Given the description of an element on the screen output the (x, y) to click on. 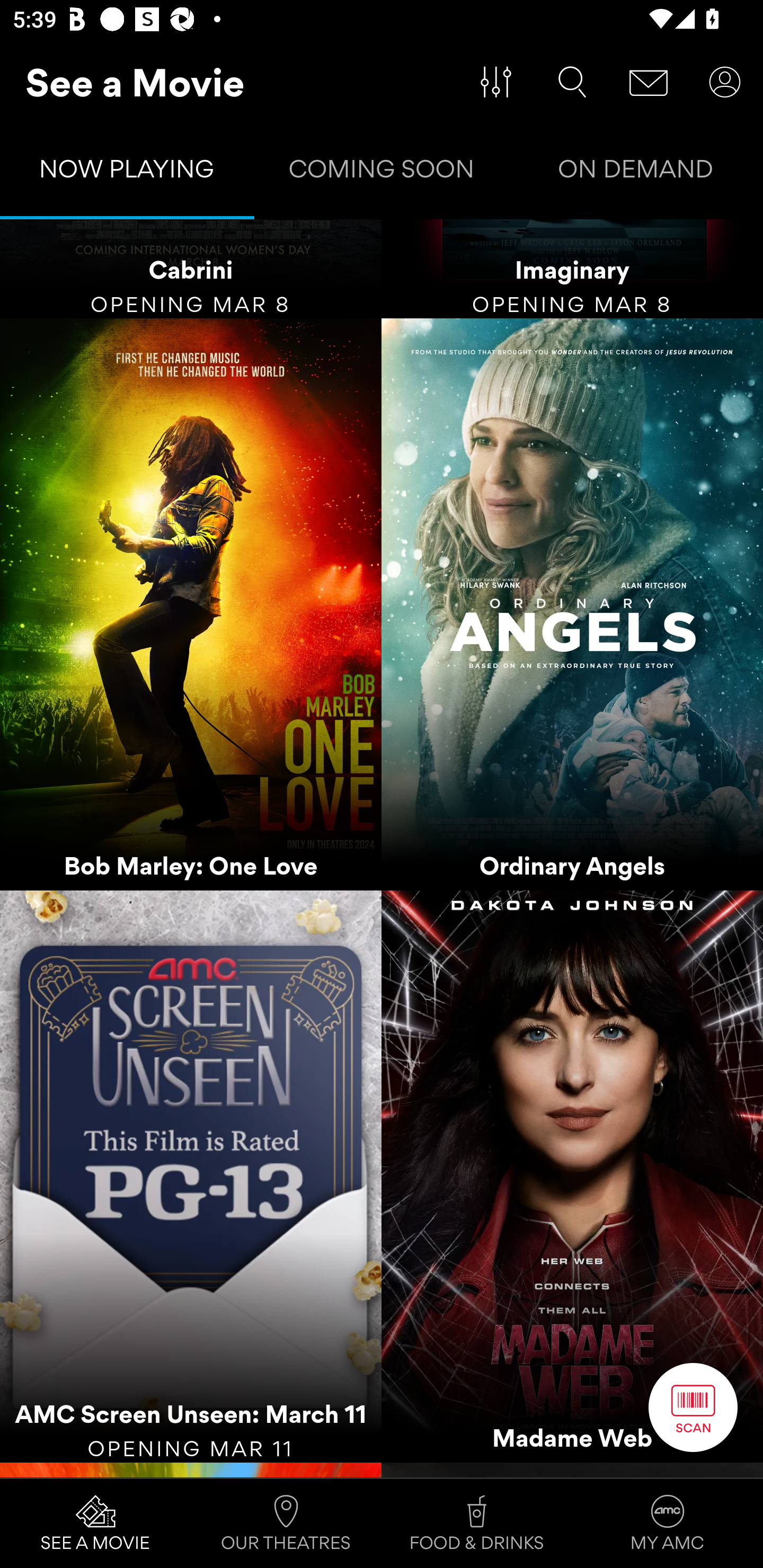
Filter Movies (495, 82)
Search (572, 82)
Message Center (648, 82)
User Account (724, 82)
NOW PLAYING
Tab 1 of 3 (127, 173)
COMING SOON
Tab 2 of 3 (381, 173)
ON DEMAND
Tab 3 of 3 (635, 173)
Cabrini
OPENING MAR 8 (190, 268)
Imaginary
OPENING MAR 8 (572, 268)
Bob Marley: One Love (190, 604)
Ordinary Angels (572, 604)
AMC Screen Unseen: March 11
OPENING MAR 11 (190, 1176)
Madame Web (572, 1176)
Scan Button (692, 1406)
SEE A MOVIE
Tab 1 of 4 (95, 1523)
OUR THEATRES
Tab 2 of 4 (285, 1523)
FOOD & DRINKS
Tab 3 of 4 (476, 1523)
MY AMC
Tab 4 of 4 (667, 1523)
